Given the description of an element on the screen output the (x, y) to click on. 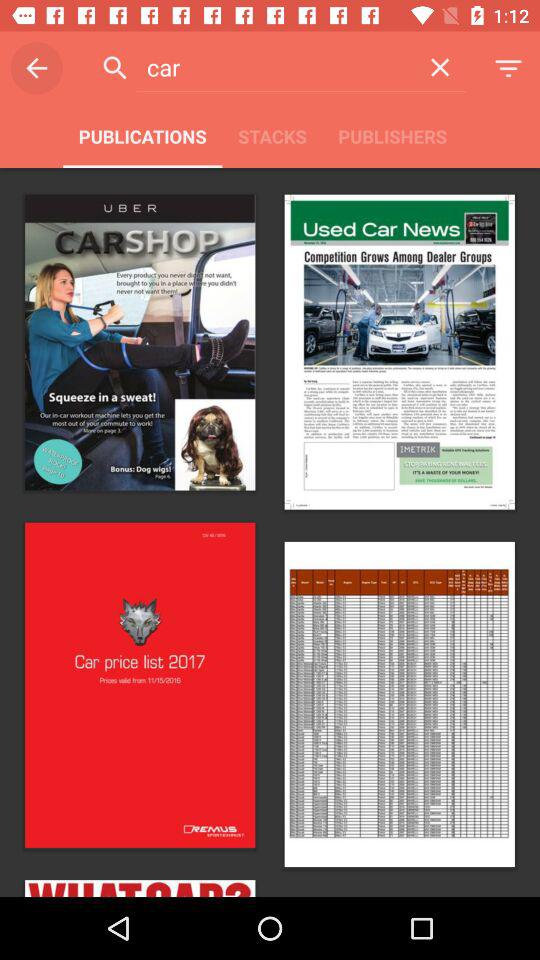
launch the icon next to car (439, 67)
